Given the description of an element on the screen output the (x, y) to click on. 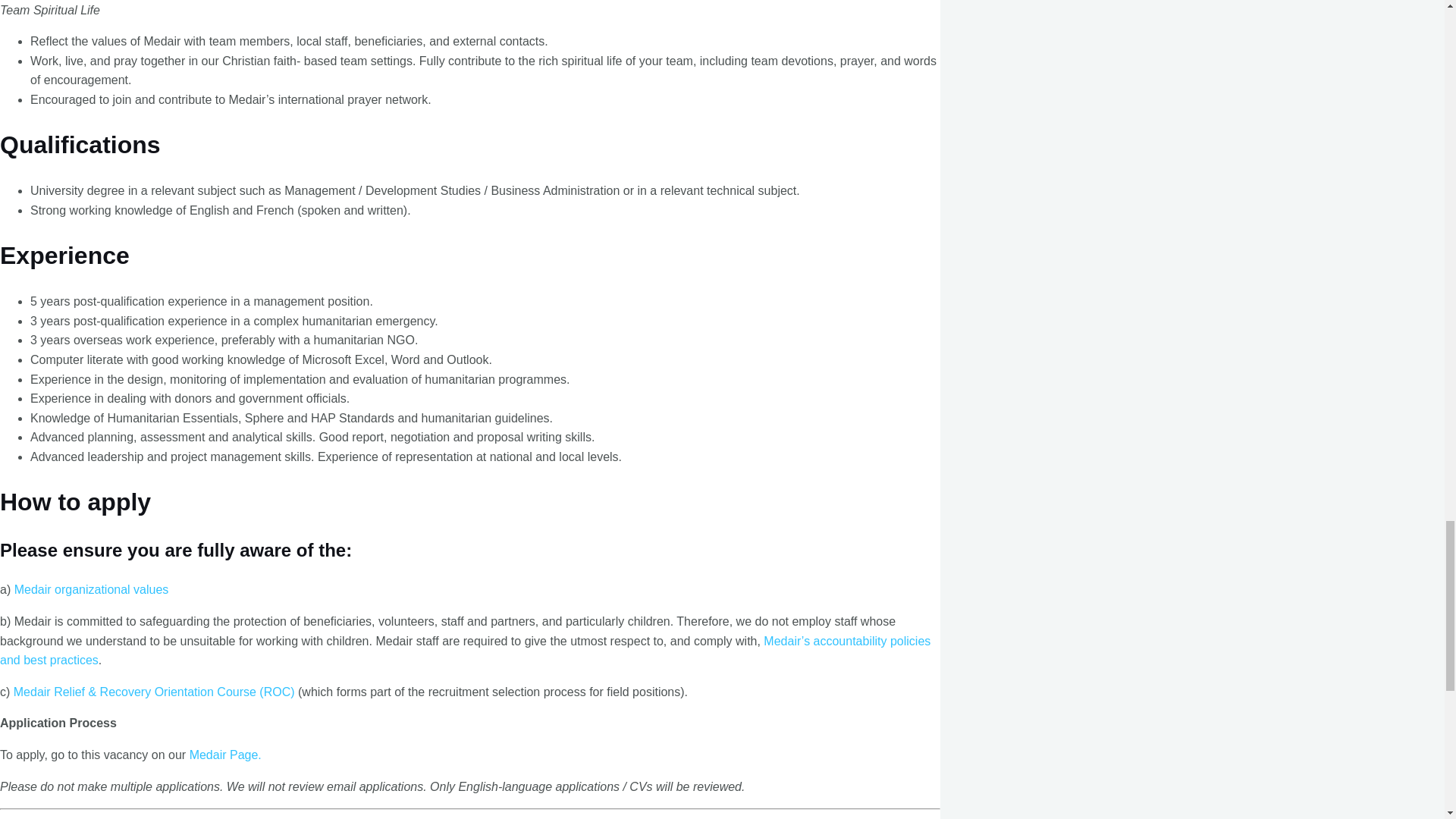
Medair organizational values (91, 589)
Medair Page. (225, 754)
